Given the description of an element on the screen output the (x, y) to click on. 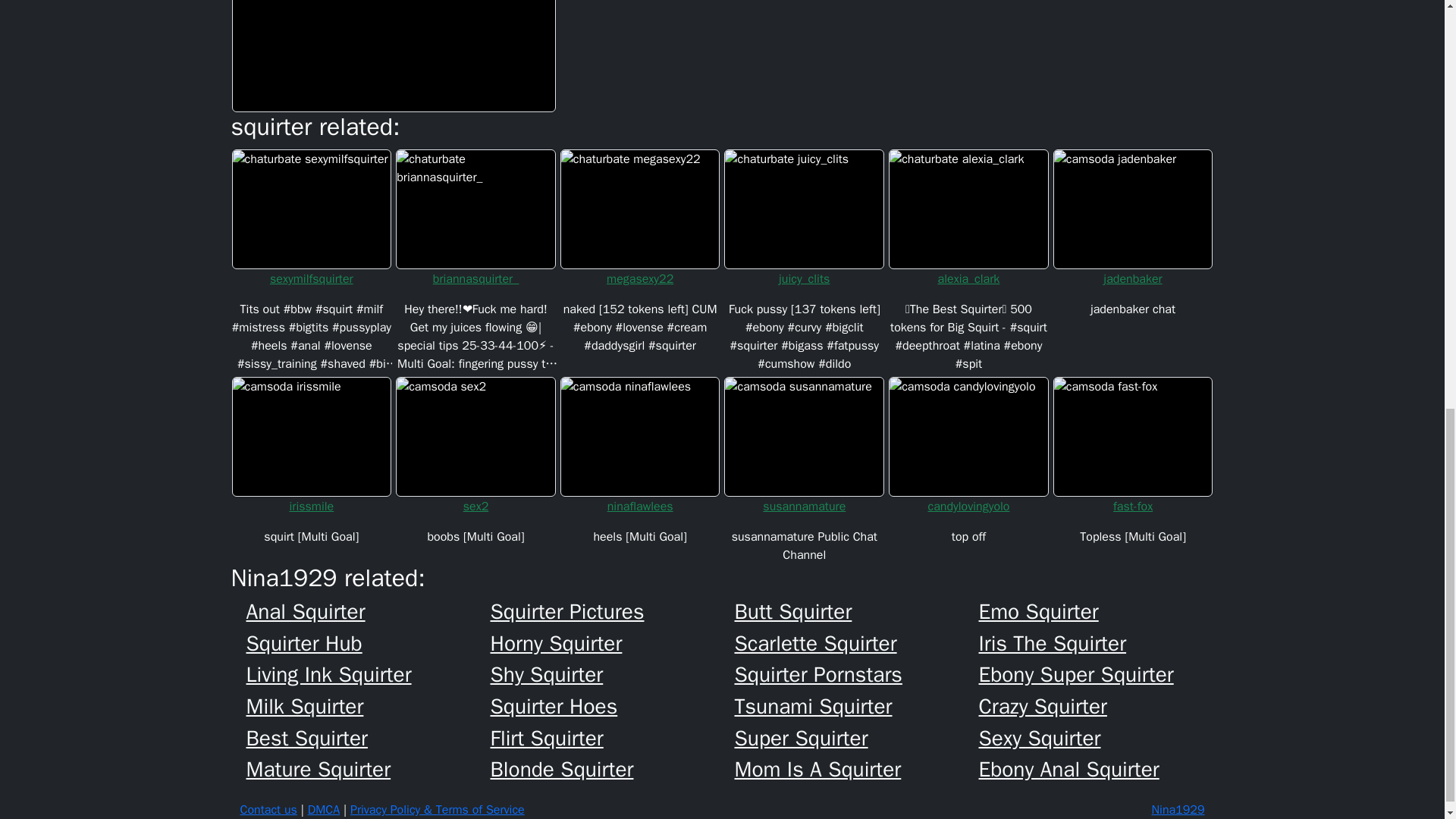
sex2 (475, 506)
irissmile (310, 506)
fast-fox (1133, 506)
Squirter Pictures (611, 611)
Horny Squirter (611, 643)
Shy Squirter (611, 674)
Butt Squirter (855, 611)
ninaflawlees (639, 506)
susannamature (804, 506)
jadenbaker (1133, 279)
Anal Squirter (367, 611)
megasexy22 (639, 279)
Squirter Hub (367, 643)
Scarlette Squirter (855, 643)
sexymilfsquirter (310, 279)
